Given the description of an element on the screen output the (x, y) to click on. 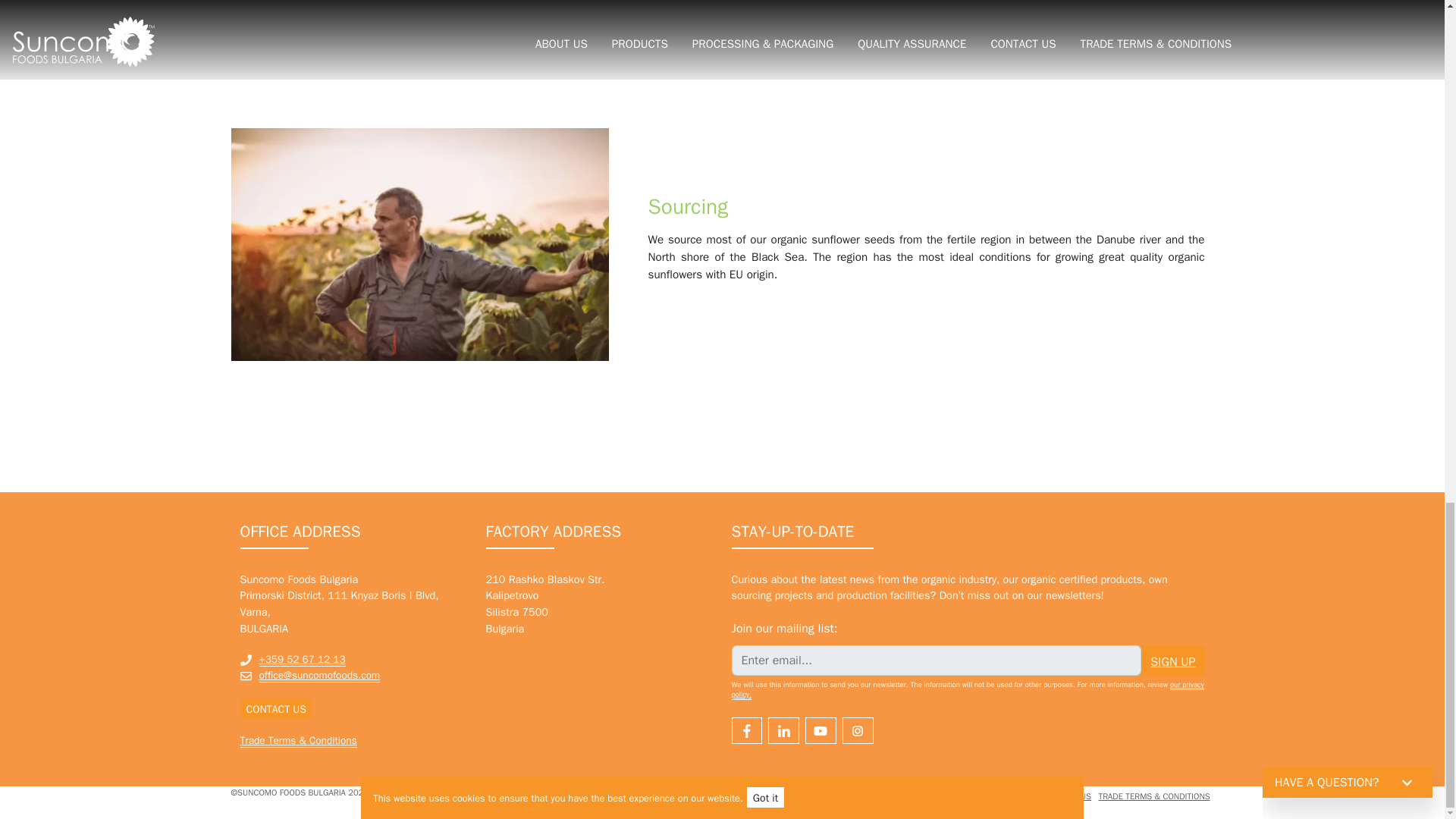
QUALITY ASSURANCE (995, 796)
ABOUT US (769, 796)
CONTACT US (1067, 796)
FACTORY ADDRESS (552, 531)
SIGN UP (1172, 660)
PRODUCTS (815, 796)
our privacy policy. (967, 689)
STAY-UP-TO-DATE (791, 531)
OFFICE ADDRESS (299, 531)
